Given the description of an element on the screen output the (x, y) to click on. 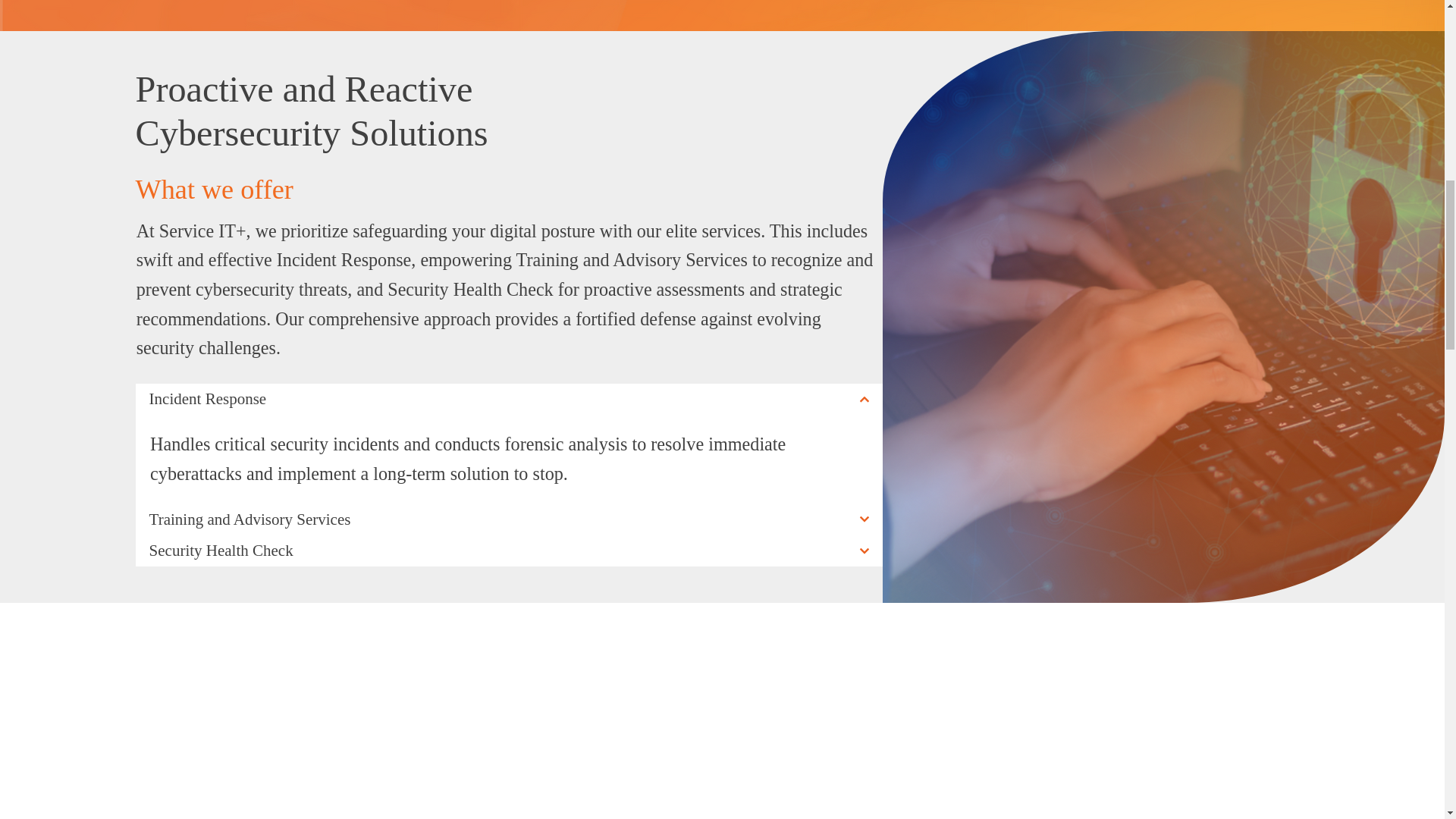
Incident Response (508, 399)
Training and Advisory Services (508, 519)
Security Health Check (508, 550)
